Given the description of an element on the screen output the (x, y) to click on. 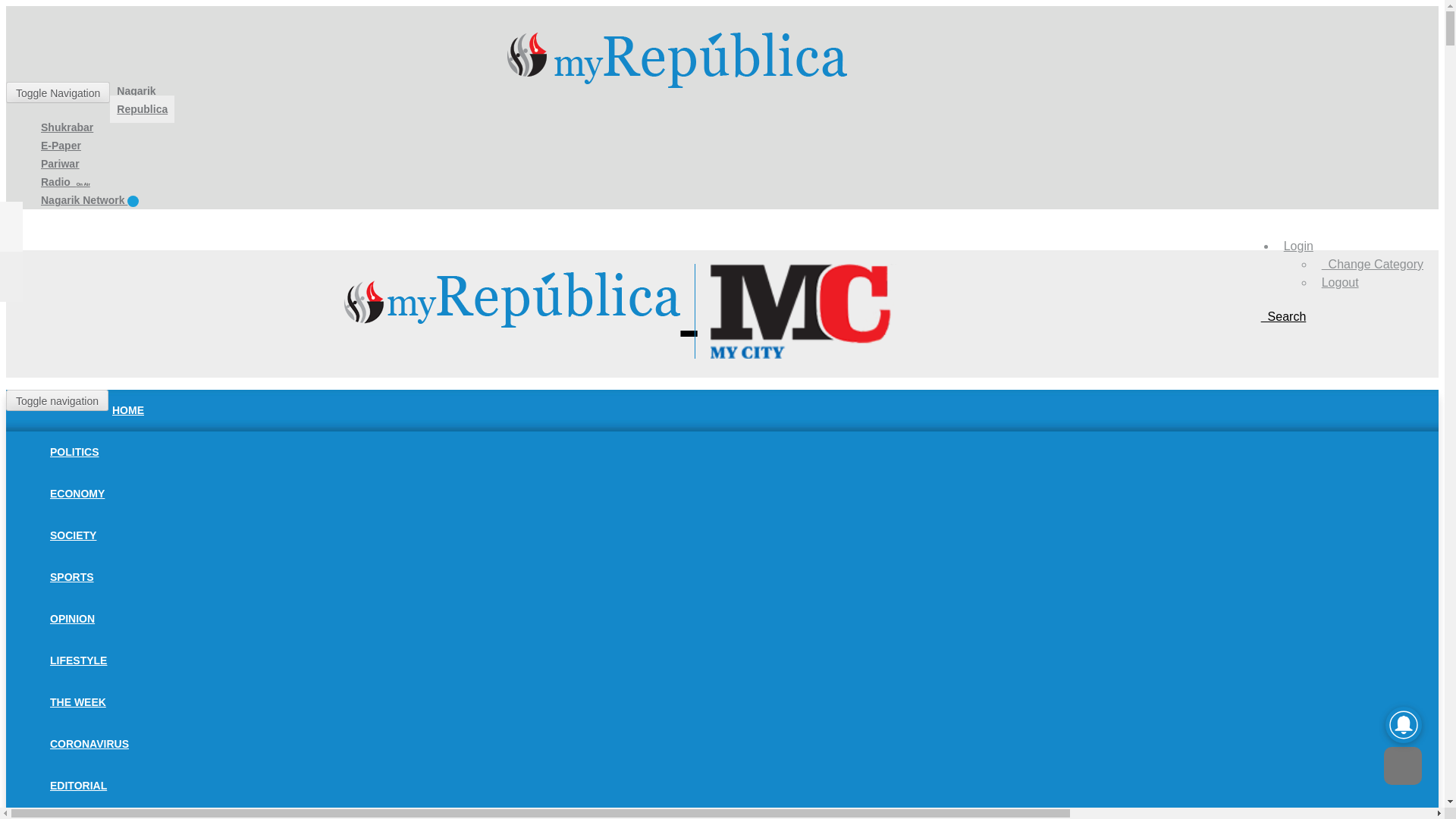
THE WEEK (78, 702)
E-Paper (60, 144)
Republica (142, 108)
  Change Category (1372, 264)
HOME (127, 410)
  Search (1283, 316)
SPORTS (71, 576)
Toggle Navigation (57, 92)
Radio  On Air (65, 181)
ECONOMY (76, 493)
SOCIETY (73, 535)
Pariwar (59, 163)
Nagarik Network  (89, 199)
Nagarik (135, 90)
Logout (1340, 282)
